Given the description of an element on the screen output the (x, y) to click on. 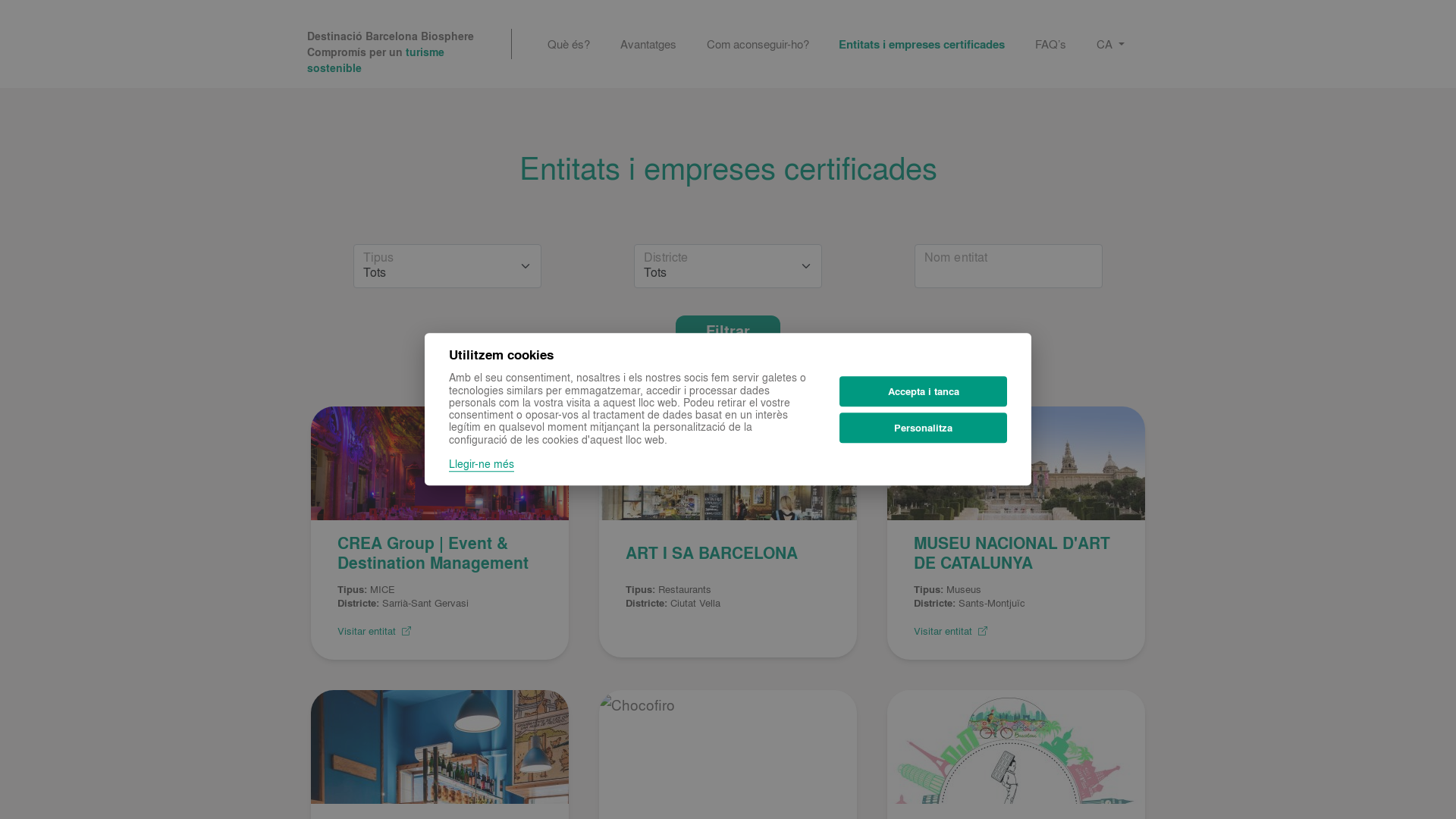
CA Element type: text (1110, 44)
Personalitza Element type: text (923, 427)
Filtrar Element type: text (727, 330)
Com aconseguir-ho? Element type: text (757, 44)
Avantatges Element type: text (648, 44)
Accepta i tanca Element type: text (923, 391)
Entitats i empreses certificades Element type: text (921, 44)
